Given the description of an element on the screen output the (x, y) to click on. 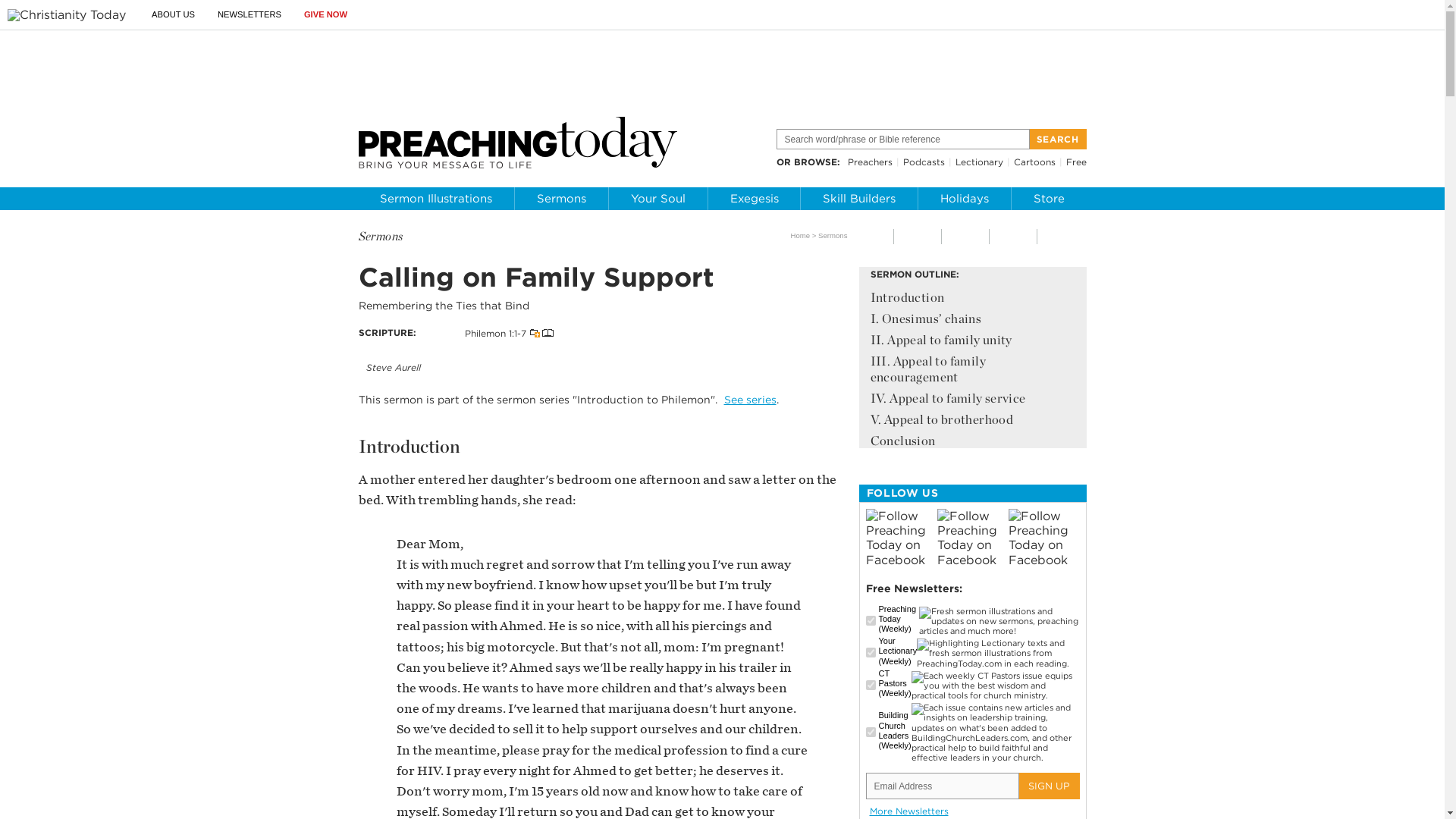
Search (1057, 138)
Preachers (869, 161)
GIVE NOW (326, 14)
Sign Up (1049, 786)
Holidays (964, 198)
Your Soul (657, 198)
Search (1057, 138)
Sermon Illustrations (435, 198)
Christianity Today (66, 15)
15 (871, 732)
